Given the description of an element on the screen output the (x, y) to click on. 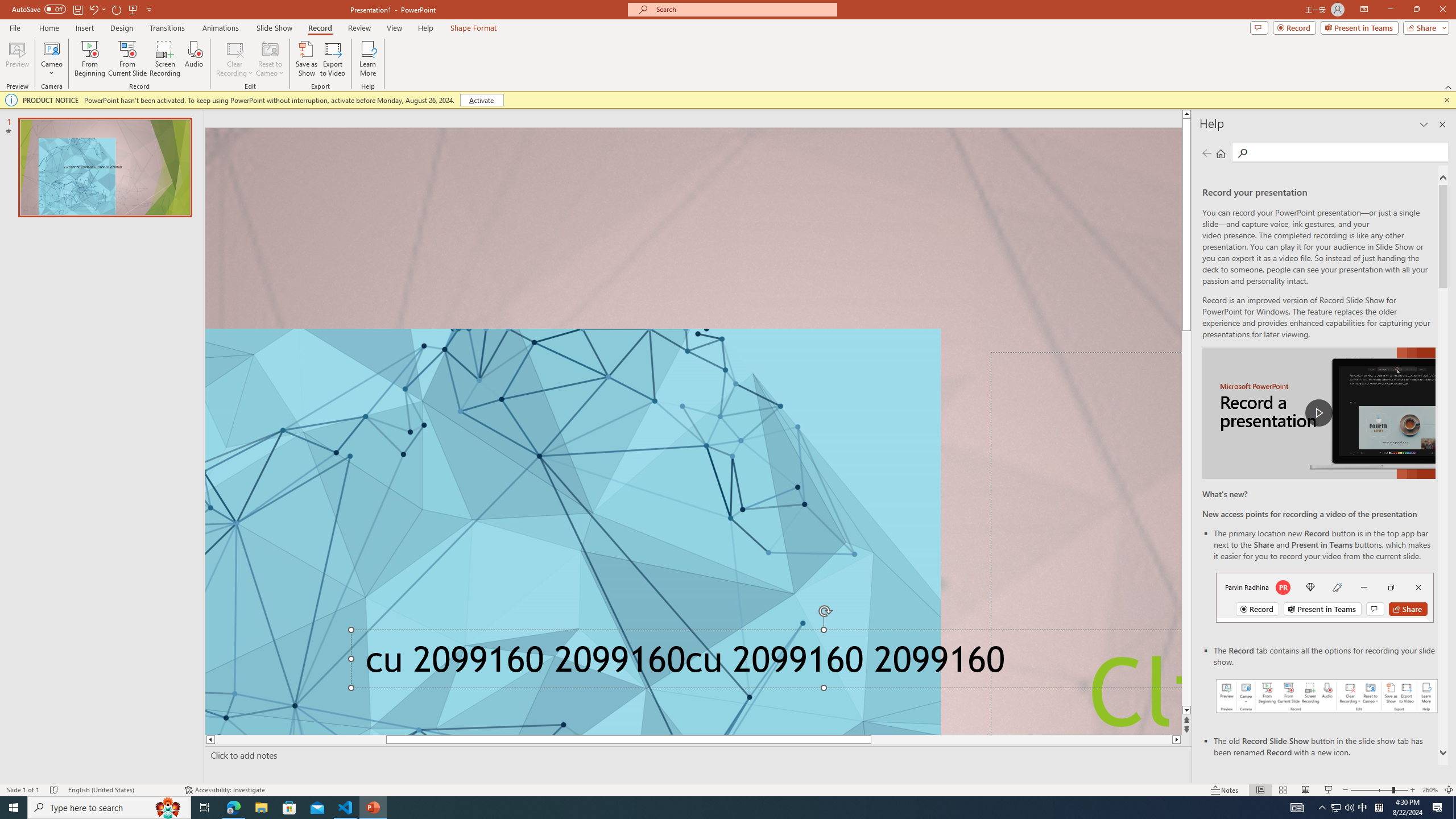
An abstract genetic concept (693, 430)
Record button in top bar (1324, 597)
